Given the description of an element on the screen output the (x, y) to click on. 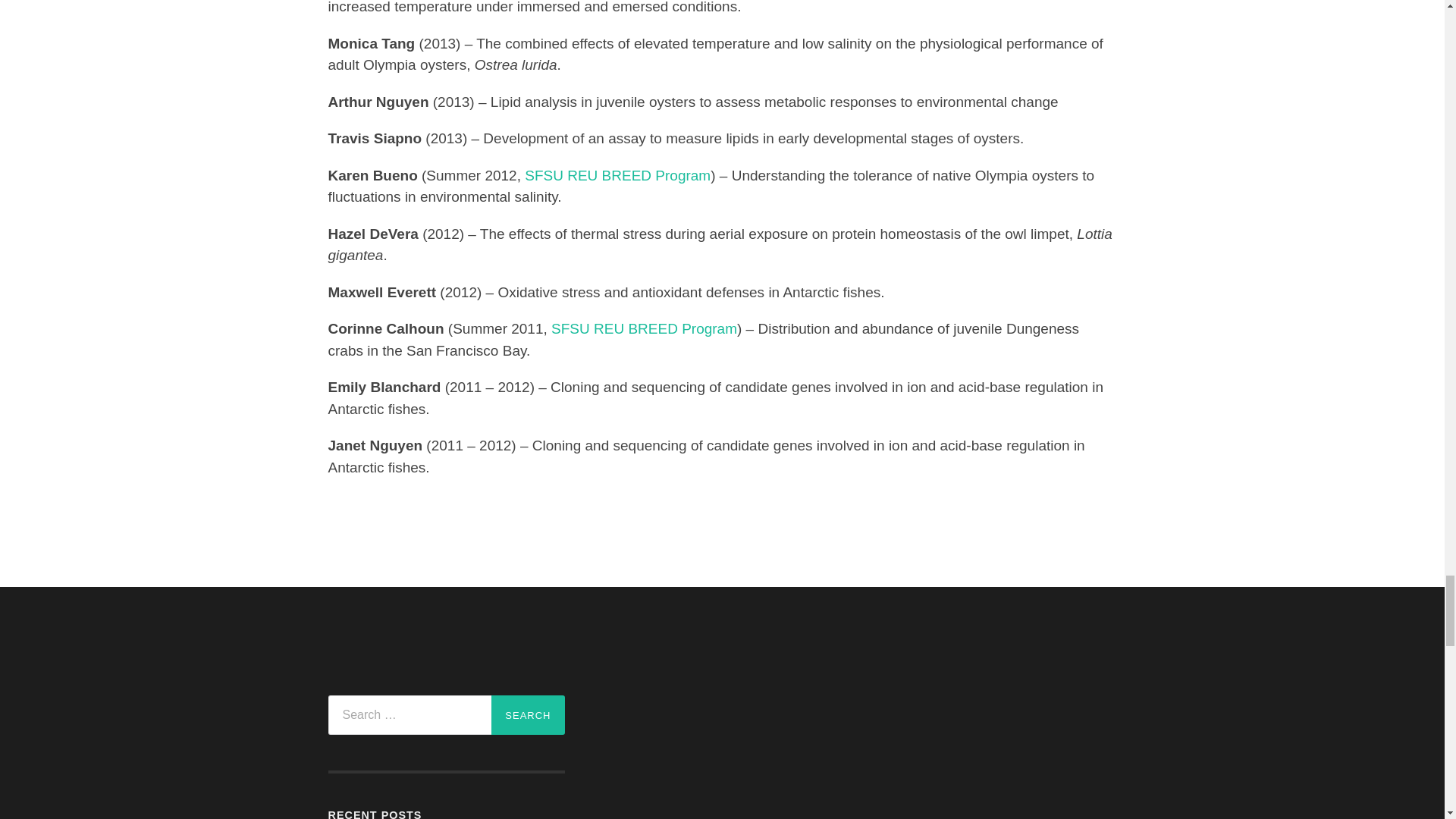
Search (528, 714)
Search (528, 714)
